Given the description of an element on the screen output the (x, y) to click on. 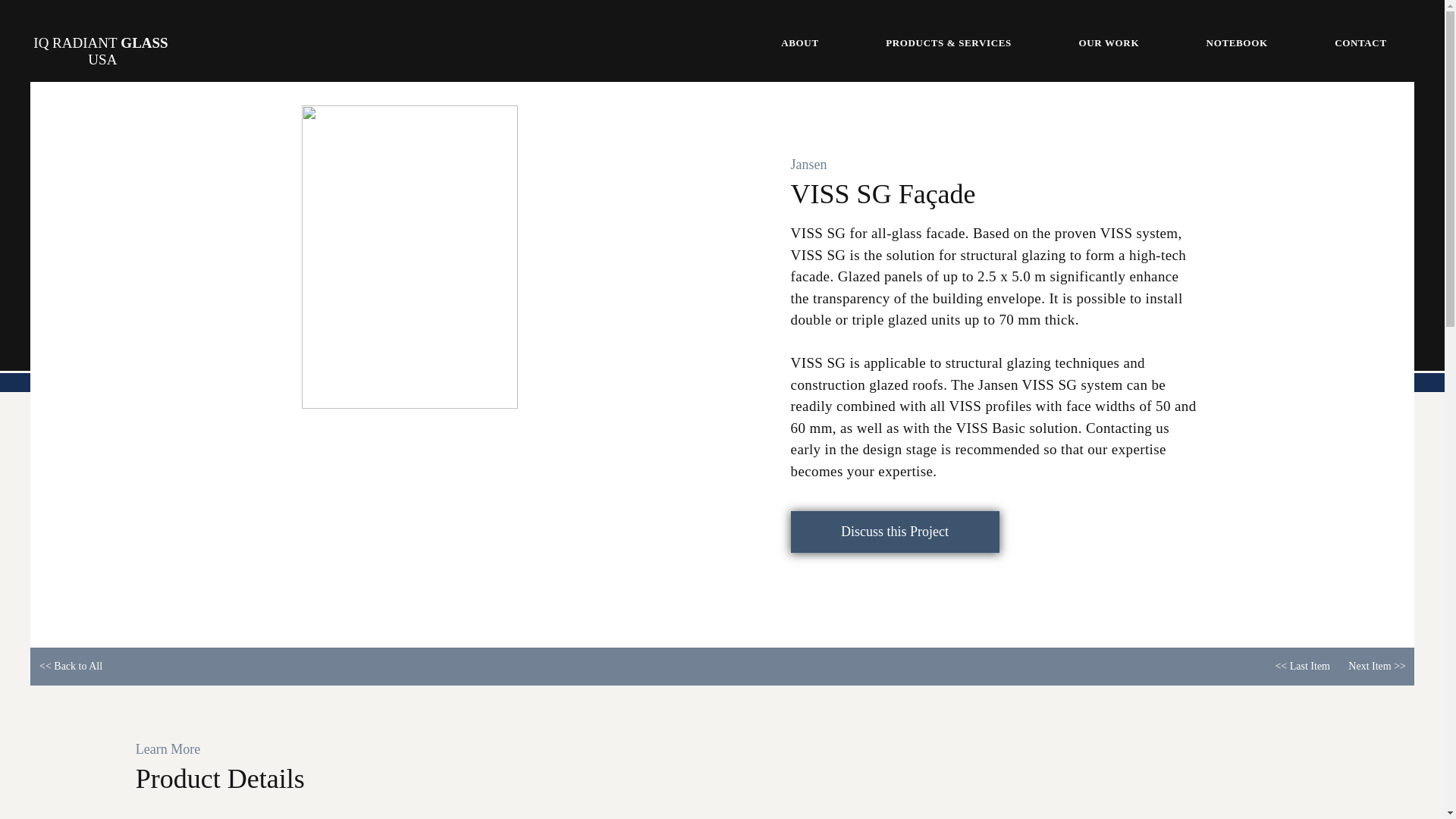
CONTACT (1360, 42)
OUR WORK (1108, 42)
ABOUT (799, 42)
NOTEBOOK (1236, 42)
Discuss this Project (894, 531)
IQ RADIANT GLASS  USA (100, 51)
